Given the description of an element on the screen output the (x, y) to click on. 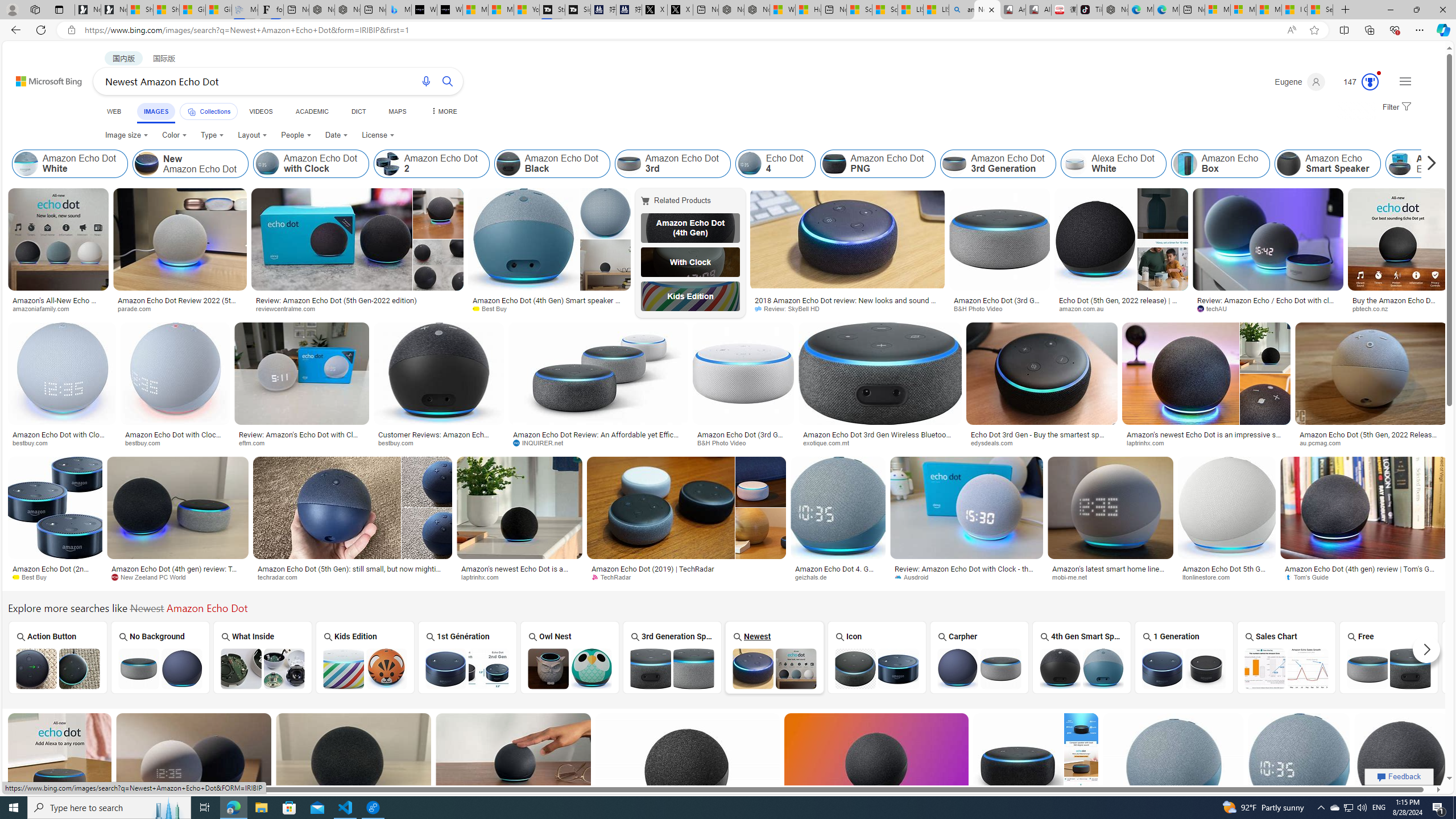
Amazon Echo Dot 4th Gen Smart Speaker with Alexa (1080, 668)
Amazon Echo Dot 2 (431, 163)
What Inside a Amazon Echo Dot (262, 668)
IMAGES (156, 111)
Amazon Echo Dot PNG (877, 163)
Alexa Echo Dot White (1113, 163)
geizhals.de (837, 576)
amazon.com.au (1085, 308)
